Given the description of an element on the screen output the (x, y) to click on. 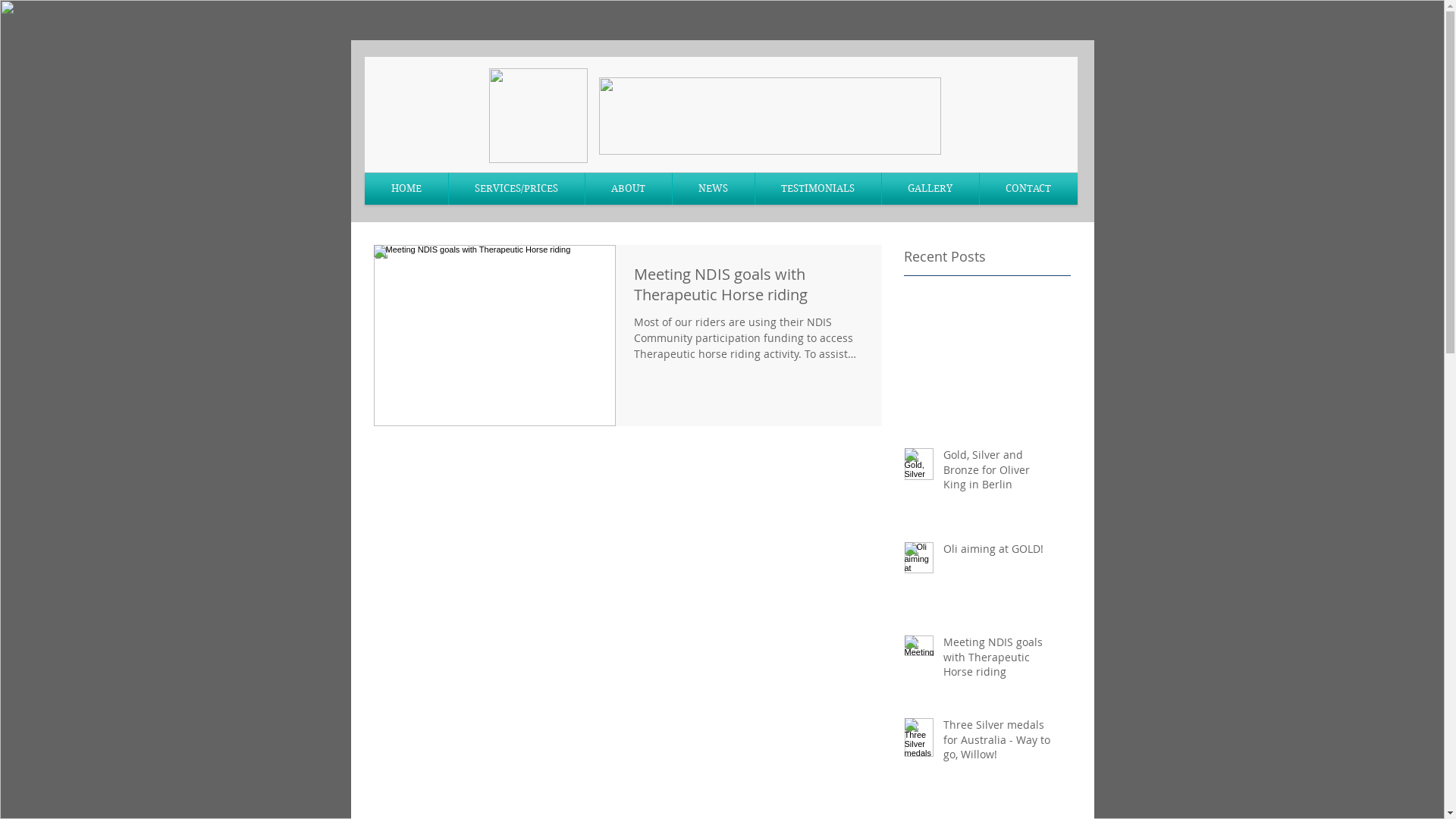
Hors4 EguusTerra 2-2_edited.png Element type: hover (537, 115)
NEWS Element type: text (712, 188)
GALLERY Element type: text (929, 188)
Meeting NDIS goals with Therapeutic Horse riding Element type: text (748, 288)
HOME Element type: text (405, 188)
CONTACT Element type: text (1028, 188)
Meeting NDIS goals with Therapeutic Horse riding Element type: text (997, 659)
SERVICES/PRICES Element type: text (516, 188)
TESTIMONIALS Element type: text (818, 188)
Three Silver medals for Australia - Way to go, Willow! Element type: text (997, 742)
Oli aiming at GOLD! Element type: text (997, 551)
ABOUT Element type: text (628, 188)
equus terra_ver 1.png Element type: hover (770, 115)
Gold, Silver and Bronze for Oliver King in Berlin Element type: text (997, 472)
